Given the description of an element on the screen output the (x, y) to click on. 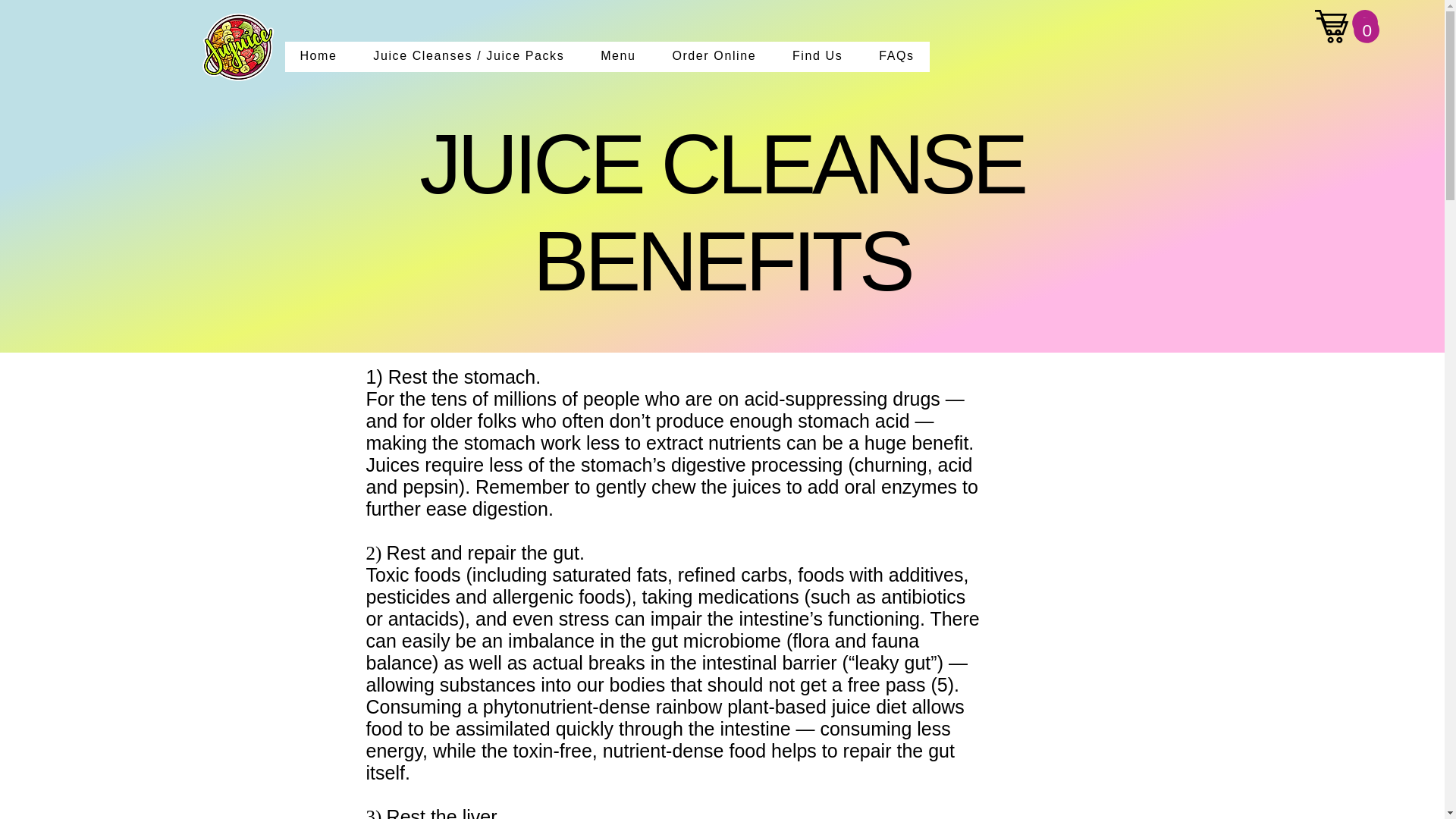
0 (1345, 22)
Home (318, 56)
FAQs (895, 56)
Menu (617, 56)
0 (1347, 30)
Find Us (817, 56)
0 (1347, 30)
0 (1345, 22)
